Given the description of an element on the screen output the (x, y) to click on. 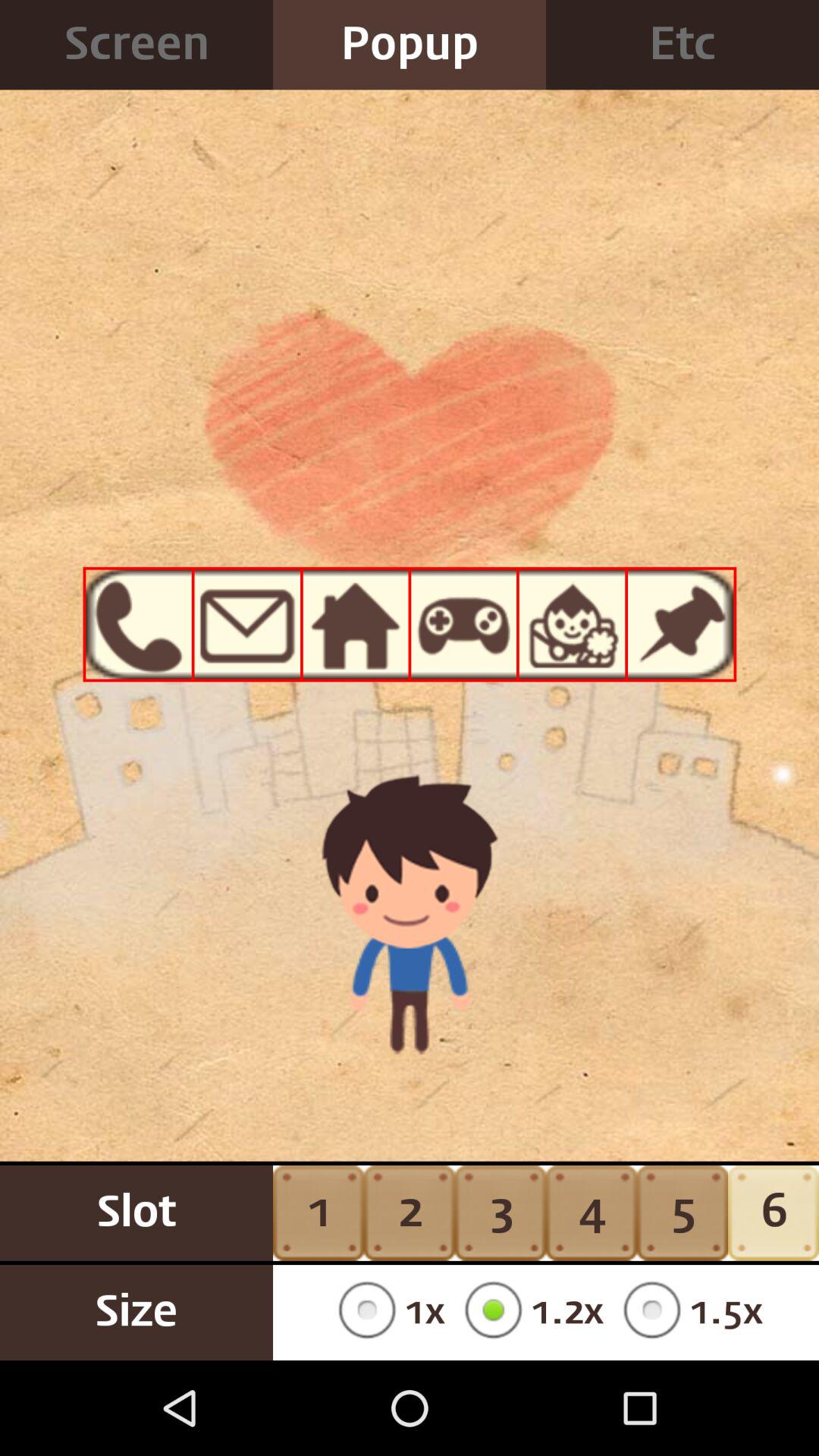
press icon next to the slot item (386, 1312)
